Given the description of an element on the screen output the (x, y) to click on. 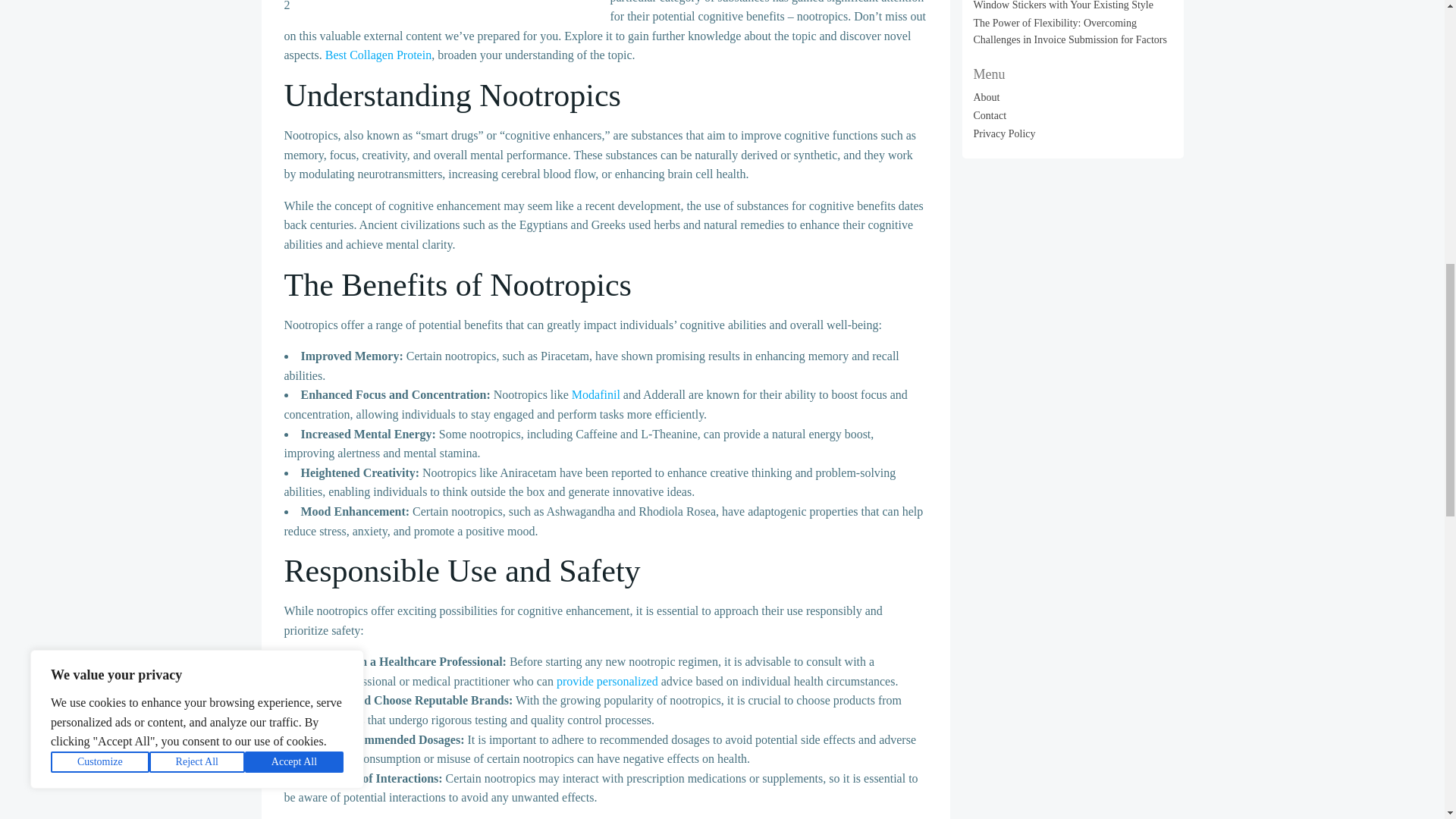
Best Collagen Protein (377, 54)
Modafinil (596, 394)
provide personalized (607, 680)
